Given the description of an element on the screen output the (x, y) to click on. 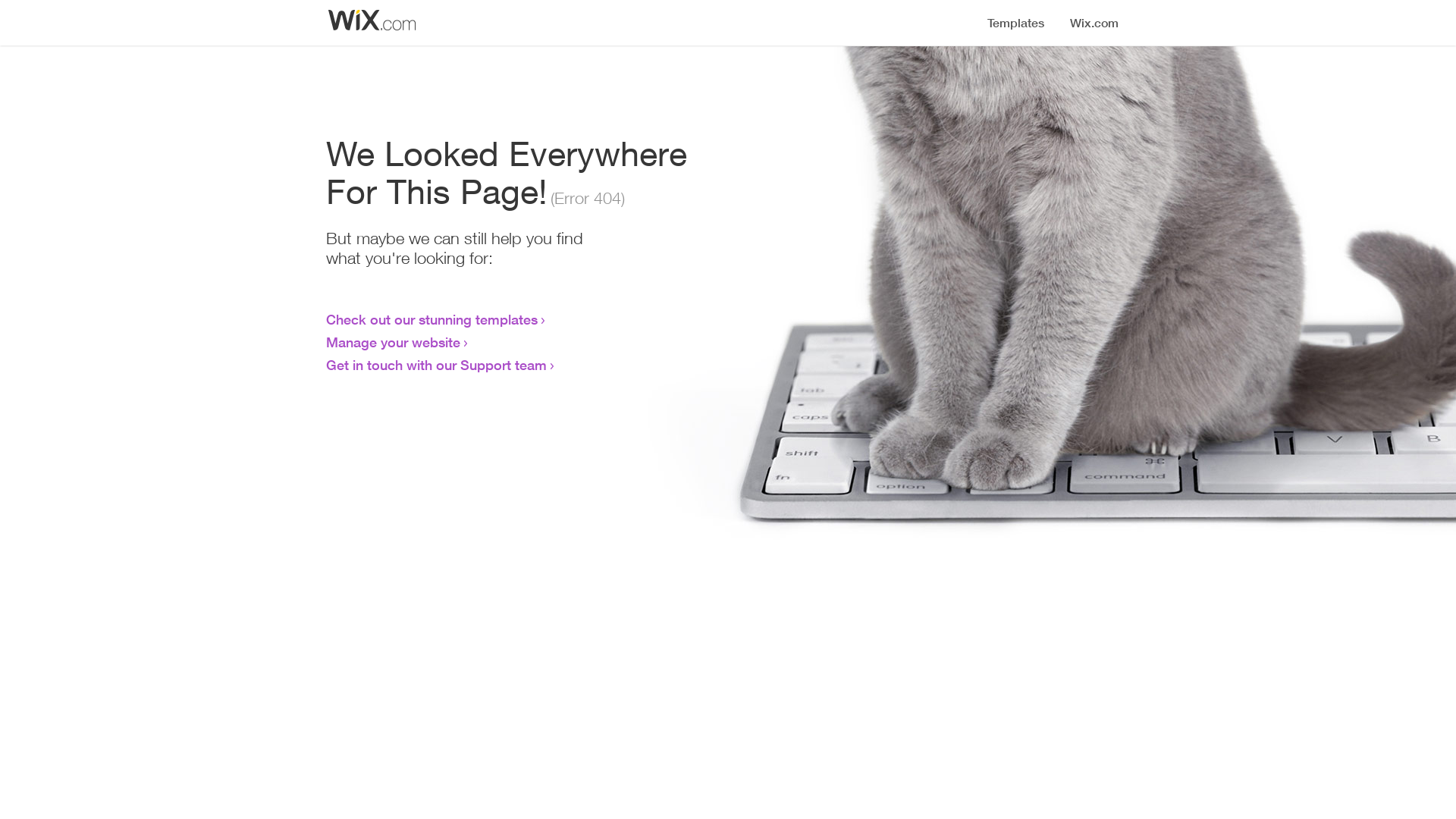
Check out our stunning templates Element type: text (431, 318)
Manage your website Element type: text (393, 341)
Get in touch with our Support team Element type: text (436, 364)
